Given the description of an element on the screen output the (x, y) to click on. 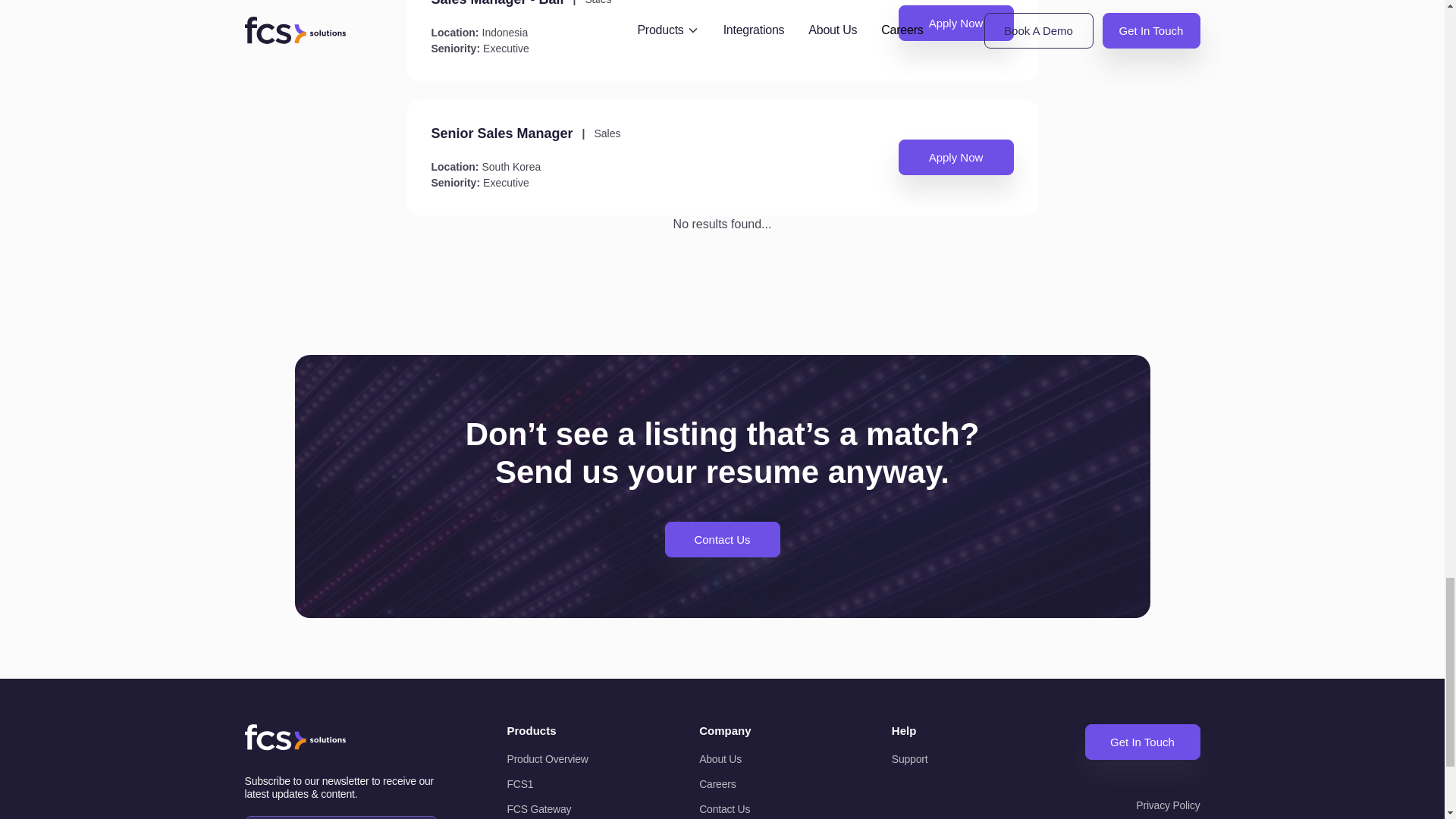
Apply Now (955, 157)
Careers (760, 784)
About Us (760, 758)
FCS Gateway (567, 809)
Product Overview (567, 758)
FCS1 (567, 784)
Contact Us (720, 539)
Apply Now (955, 22)
